Given the description of an element on the screen output the (x, y) to click on. 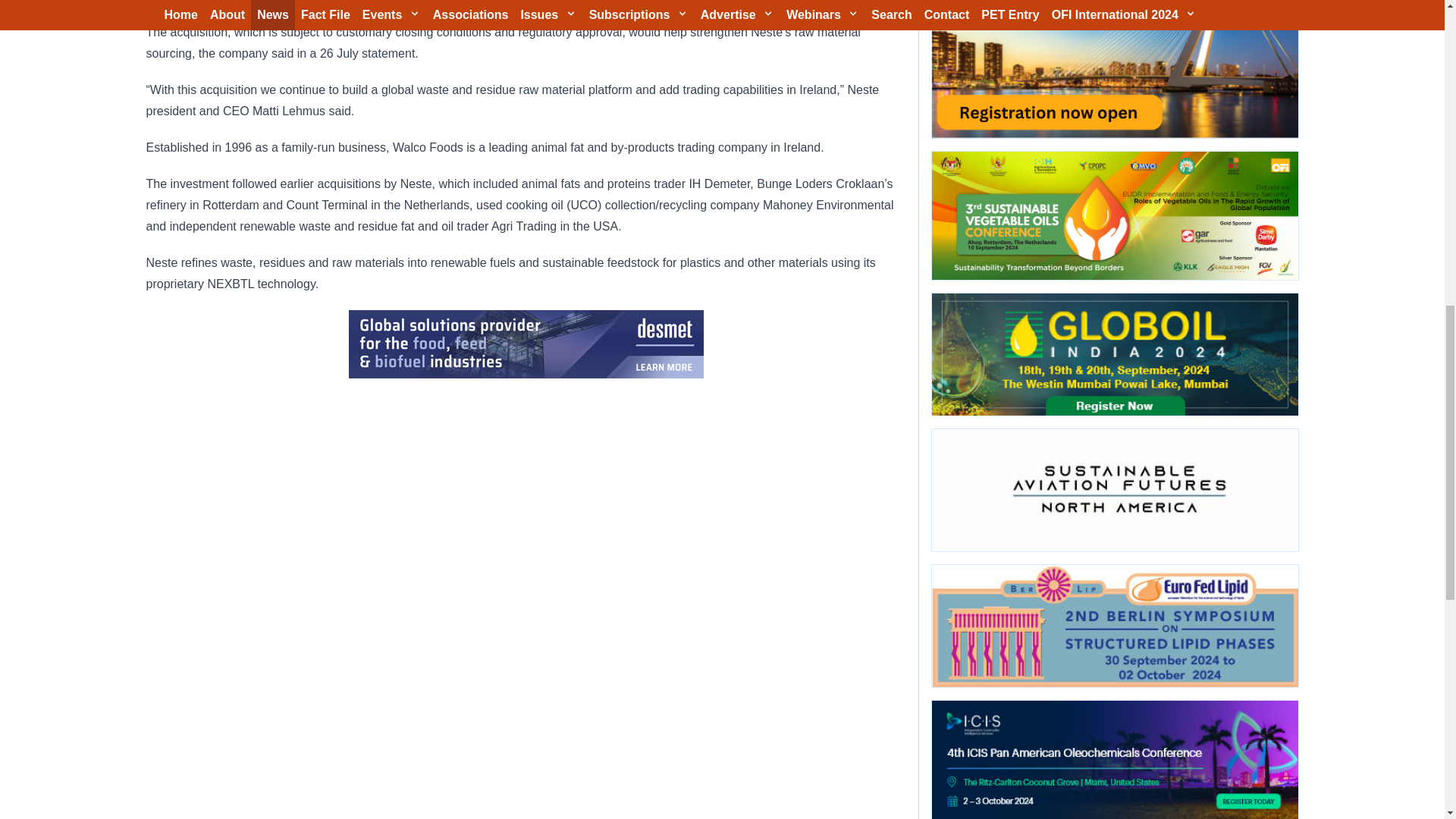
OFI International 2024 (1114, 69)
3rd Sustainable Vegetable Oil Conference (1114, 215)
2nd Berlin Symposium 2024 (1114, 626)
Globoil 2024 (1114, 354)
Sustainable Aviation Futures North America Congress (1114, 490)
Desmet 2022-4 footer banner (525, 344)
ICIS Pan American Oleochemicals Conference (1114, 760)
